Given the description of an element on the screen output the (x, y) to click on. 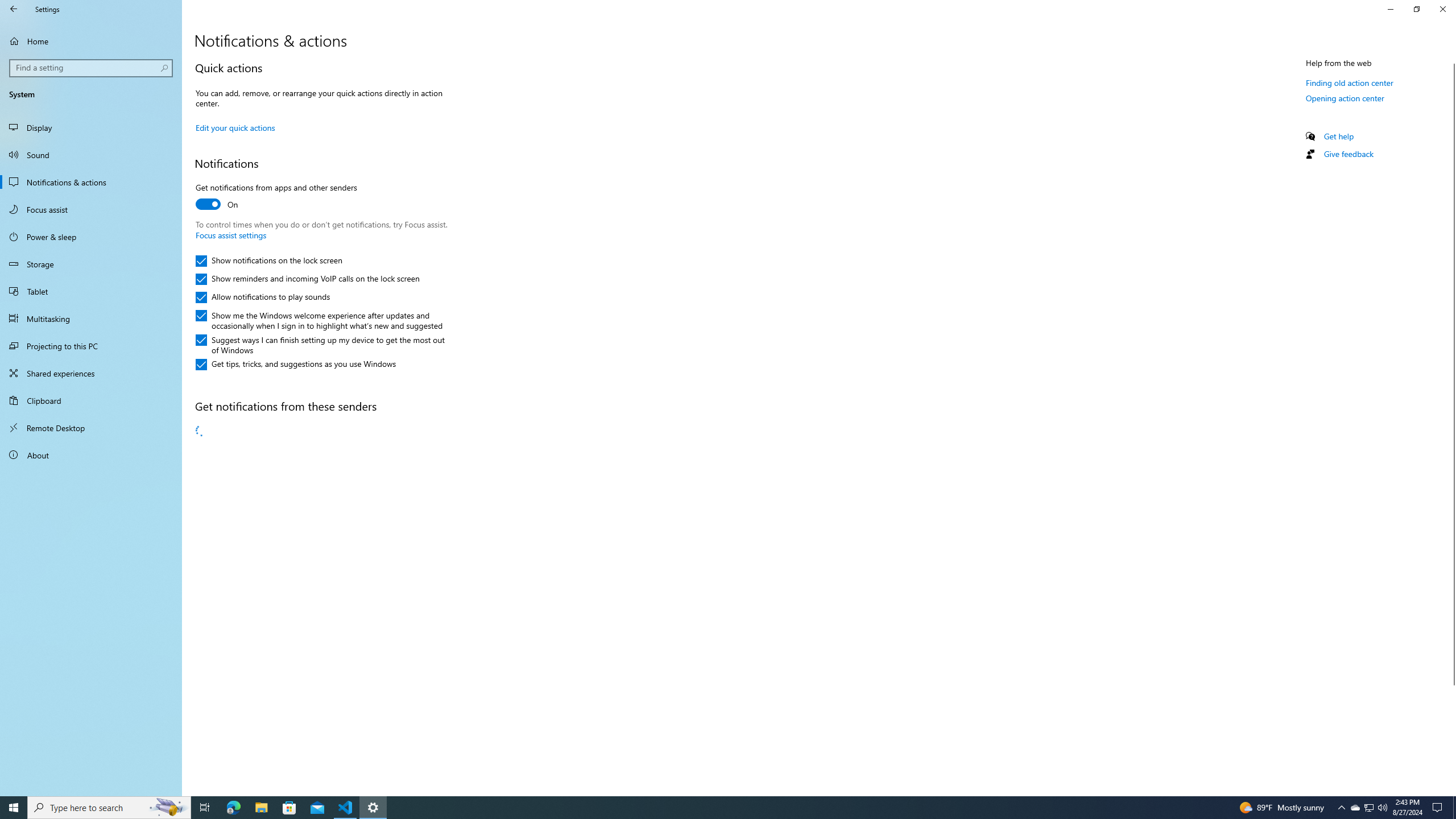
Show notifications on the lock screen (269, 261)
Sort by: Most recent (237, 469)
Focus assist settings (230, 235)
Skype (319, 541)
Shared experiences (91, 372)
Vertical Small Decrease (1451, 58)
Get tips, tricks, and suggestions as you use Windows (295, 364)
Notifications & actions (91, 181)
Show reminders and incoming VoIP calls on the lock screen (307, 279)
